Given the description of an element on the screen output the (x, y) to click on. 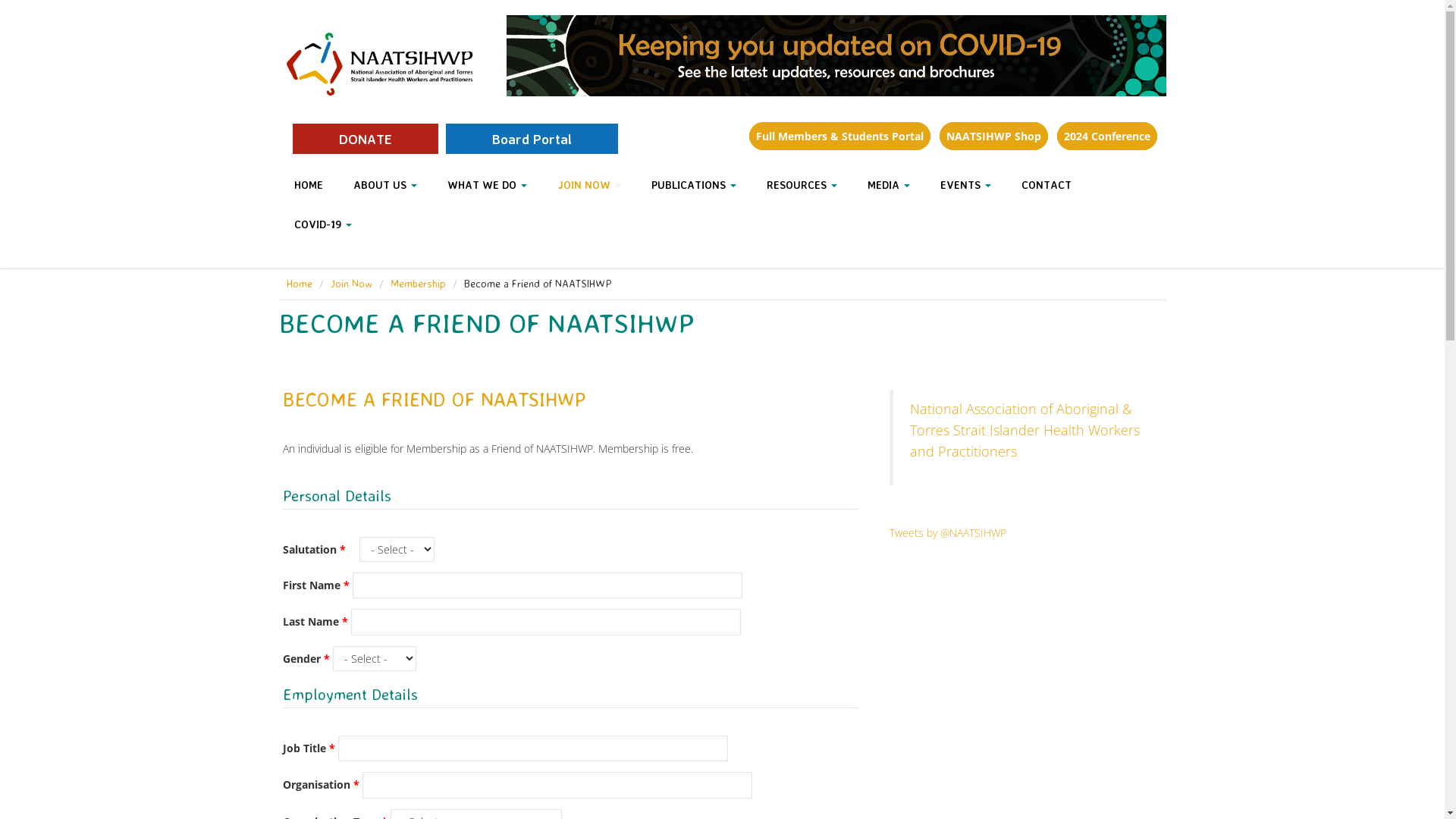
Tweets by @NAATSIHWP Element type: text (946, 532)
MEDIA Element type: text (888, 184)
CONTACT Element type: text (1045, 184)
2024 Conference Element type: text (1107, 136)
Full Members & Students Portal Element type: text (839, 136)
DONATE Element type: text (365, 138)
Home Element type: text (299, 282)
PUBLICATIONS Element type: text (692, 184)
Board Portal Element type: text (531, 138)
Home Element type: hover (381, 60)
Membership Element type: text (417, 282)
EVENTS Element type: text (965, 184)
Join Now Element type: text (351, 282)
HOME Element type: text (308, 184)
Skip to main content Element type: text (49, 0)
BECOME A FRIEND OF NAATSIHWP Element type: text (433, 398)
JOIN NOW Element type: text (588, 184)
RESOURCES Element type: text (800, 184)
COVID-19 Element type: text (323, 224)
ABOUT US Element type: text (385, 184)
NAATSIHWP Shop Element type: text (992, 136)
WHAT WE DO Element type: text (487, 184)
